Given the description of an element on the screen output the (x, y) to click on. 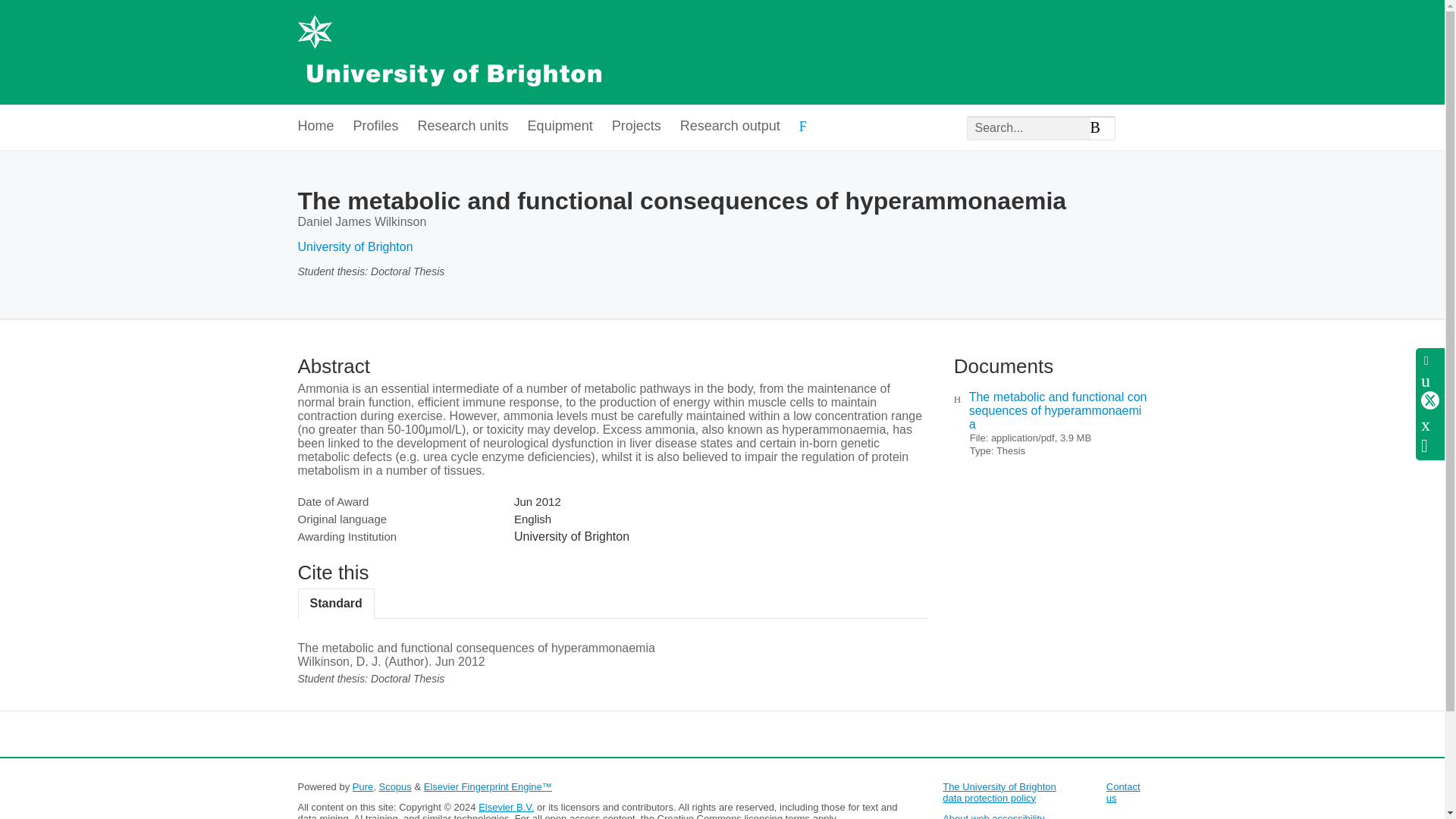
Research output (729, 126)
Contact us (1123, 792)
Projects (636, 126)
Research units (462, 126)
Profiles (375, 126)
About web accessibility (992, 816)
Scopus (394, 786)
The University of Brighton data protection policy (999, 792)
Elsevier B.V. (506, 807)
The metabolic and functional consequences of hyperammonaemia (1058, 410)
The University of Brighton Home (448, 52)
Equipment (559, 126)
Pure (362, 786)
University of Brighton (354, 246)
